Given the description of an element on the screen output the (x, y) to click on. 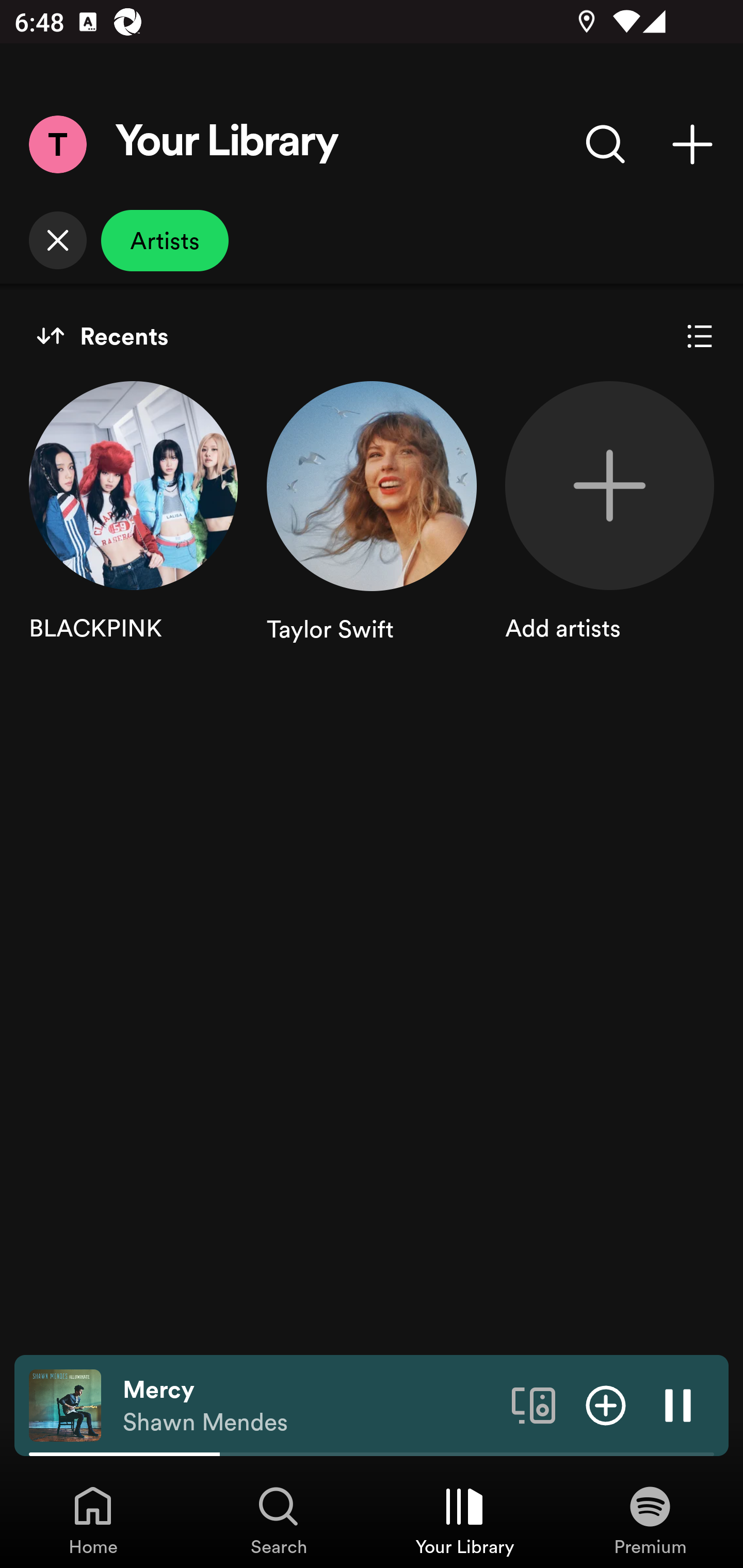
Menu (57, 144)
Search Your Library (605, 144)
Create playlist (692, 144)
Your Library Your Library Heading (226, 144)
Clear Filters (57, 240)
Artists, show only artists. (164, 240)
Recents (101, 336)
Show List view (699, 336)
BLACKPINK,  BLACKPINK (132, 531)
Taylor Swift,  Taylor Swift (371, 531)
Add artists,  Add artists (609, 531)
Mercy Shawn Mendes (309, 1405)
The cover art of the currently playing track (64, 1404)
Connect to a device. Opens the devices menu (533, 1404)
Add item (605, 1404)
Pause (677, 1404)
Home, Tab 1 of 4 Home Home (92, 1519)
Search, Tab 2 of 4 Search Search (278, 1519)
Your Library, Tab 3 of 4 Your Library Your Library (464, 1519)
Premium, Tab 4 of 4 Premium Premium (650, 1519)
